Given the description of an element on the screen output the (x, y) to click on. 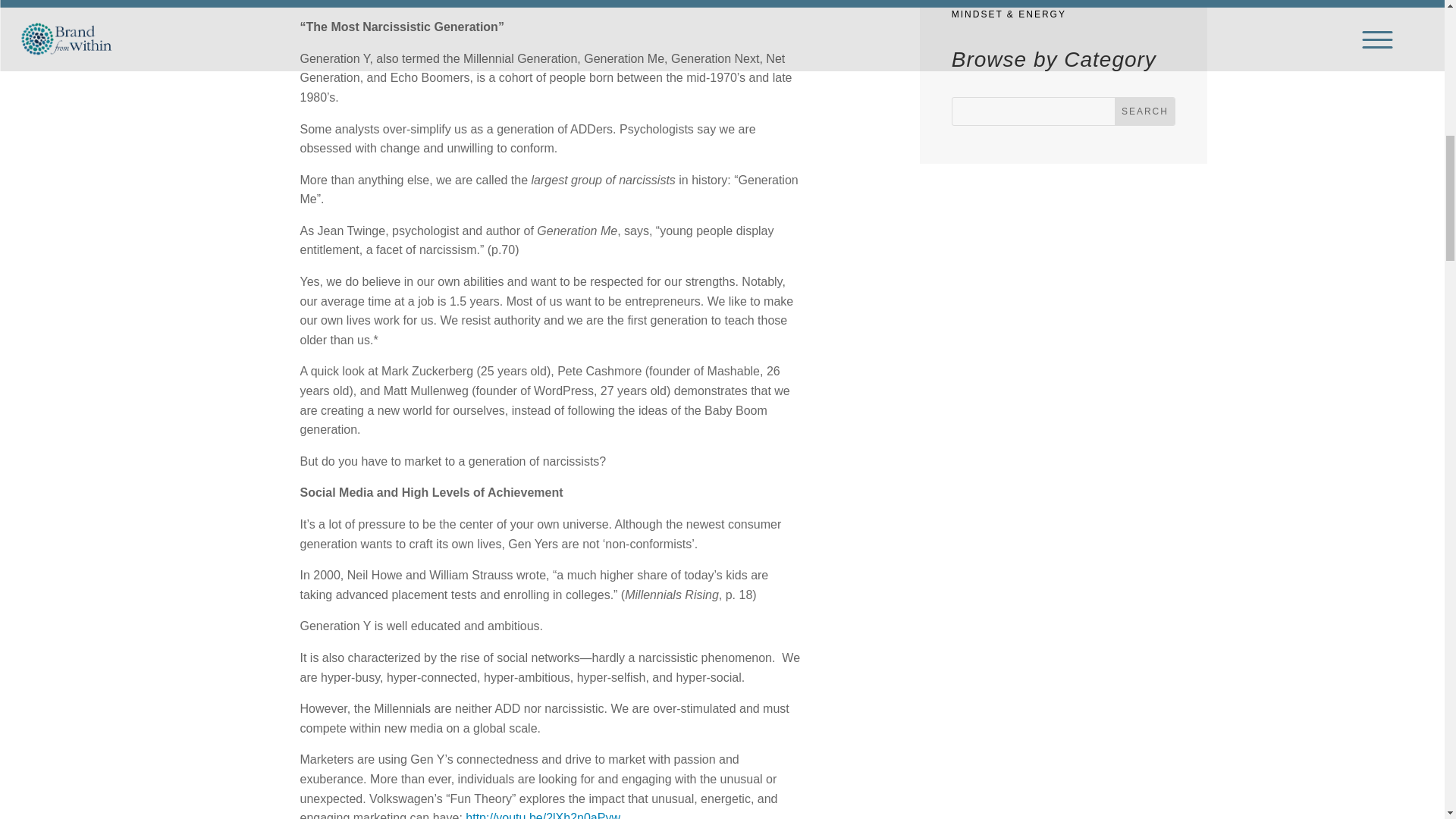
Search (1144, 111)
Search (1144, 111)
Search (1144, 111)
